Given the description of an element on the screen output the (x, y) to click on. 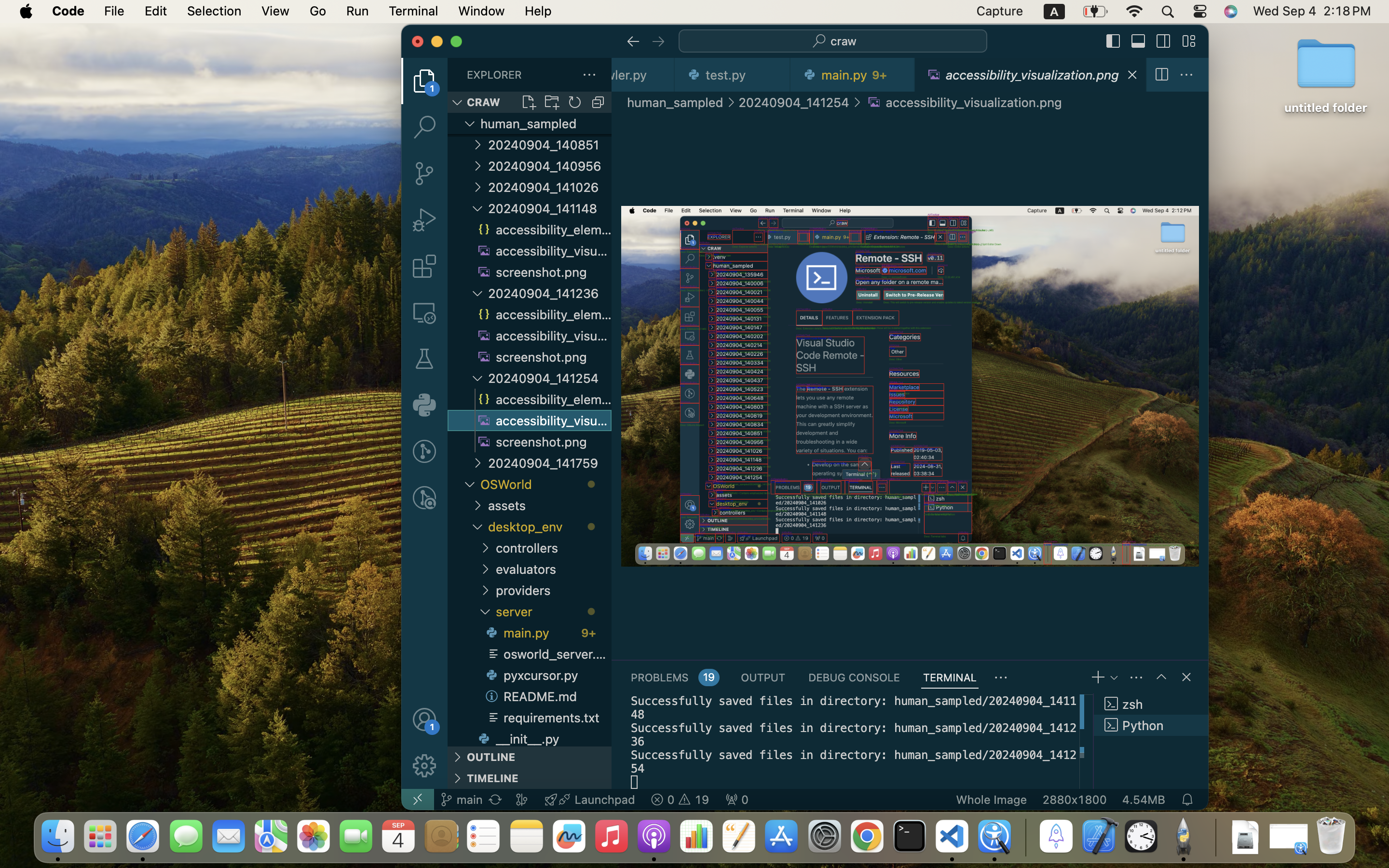
 Element type: AXButton (1160, 74)
 Element type: AXGroup (424, 219)
accessibility_visualization.png  Element type: AXGroup (963, 101)
OSWorld  Element type: AXGroup (545, 483)
 Element type: AXStaticText (1186, 74)
